Given the description of an element on the screen output the (x, y) to click on. 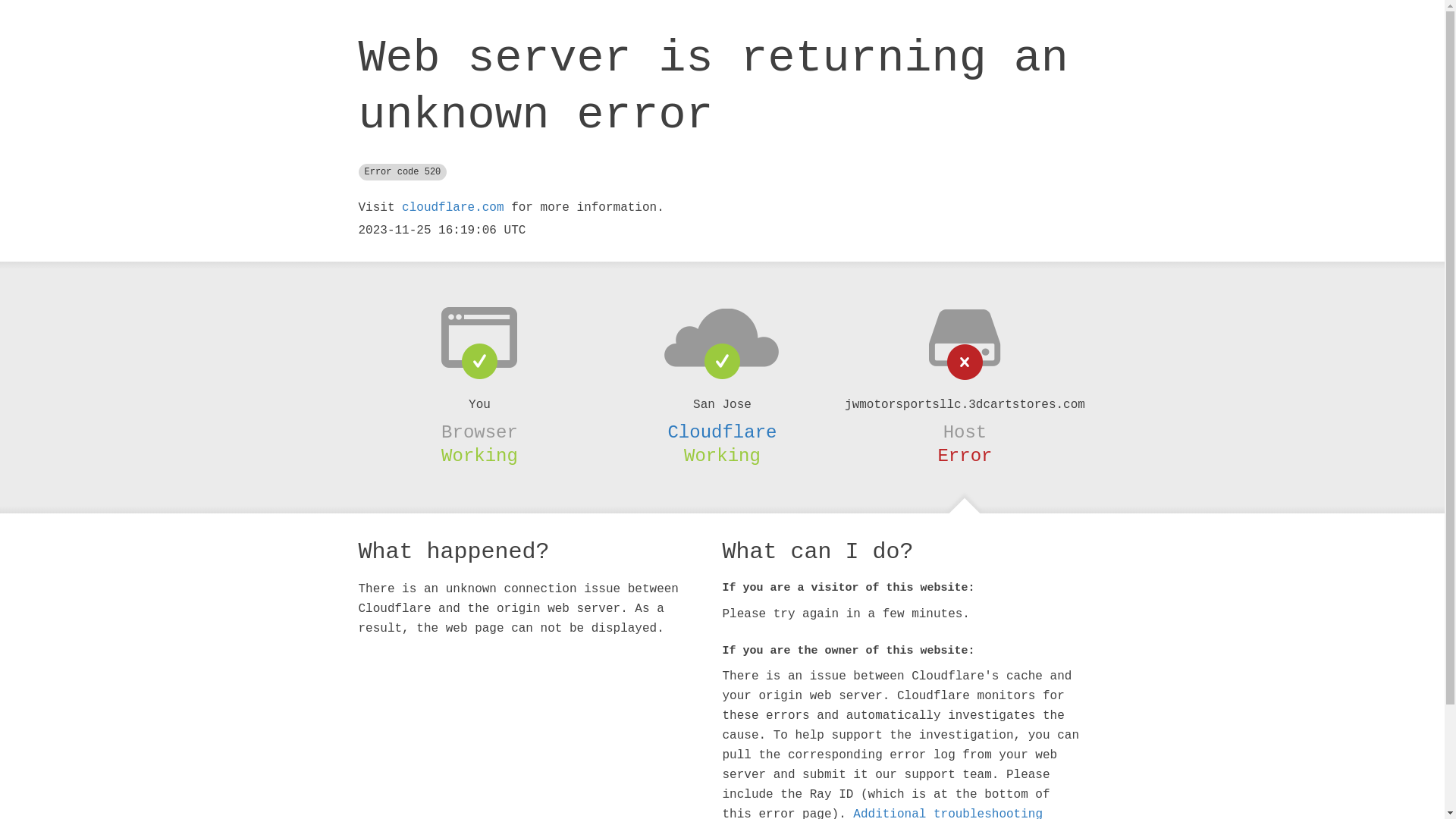
Cloudflare Element type: text (721, 432)
cloudflare.com Element type: text (452, 207)
